Given the description of an element on the screen output the (x, y) to click on. 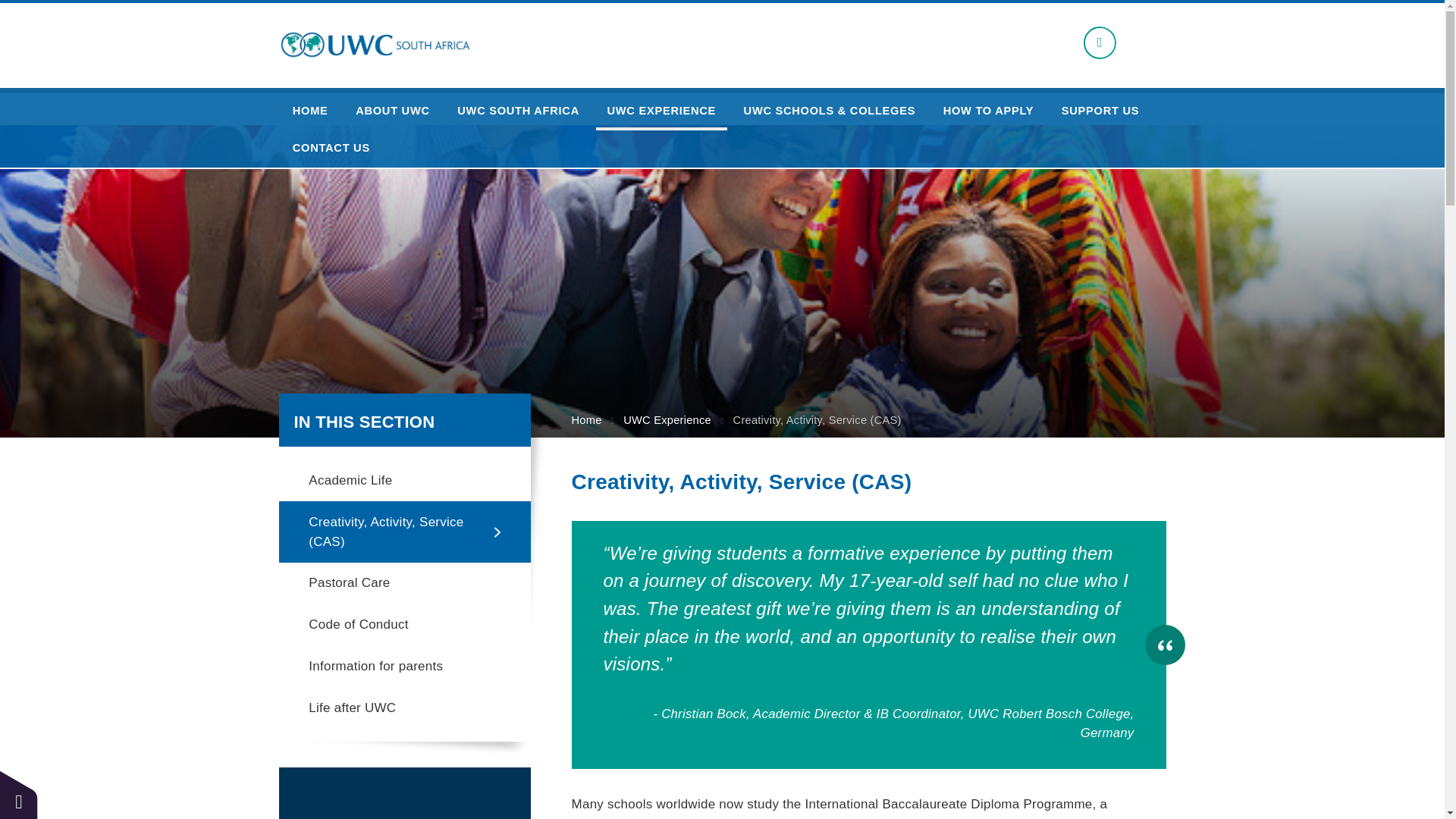
Languages (1099, 42)
ABOUT UWC (393, 111)
HOME (310, 111)
UWC SOUTH AFRICA (518, 111)
UWC EXPERIENCE (660, 111)
